Given the description of an element on the screen output the (x, y) to click on. 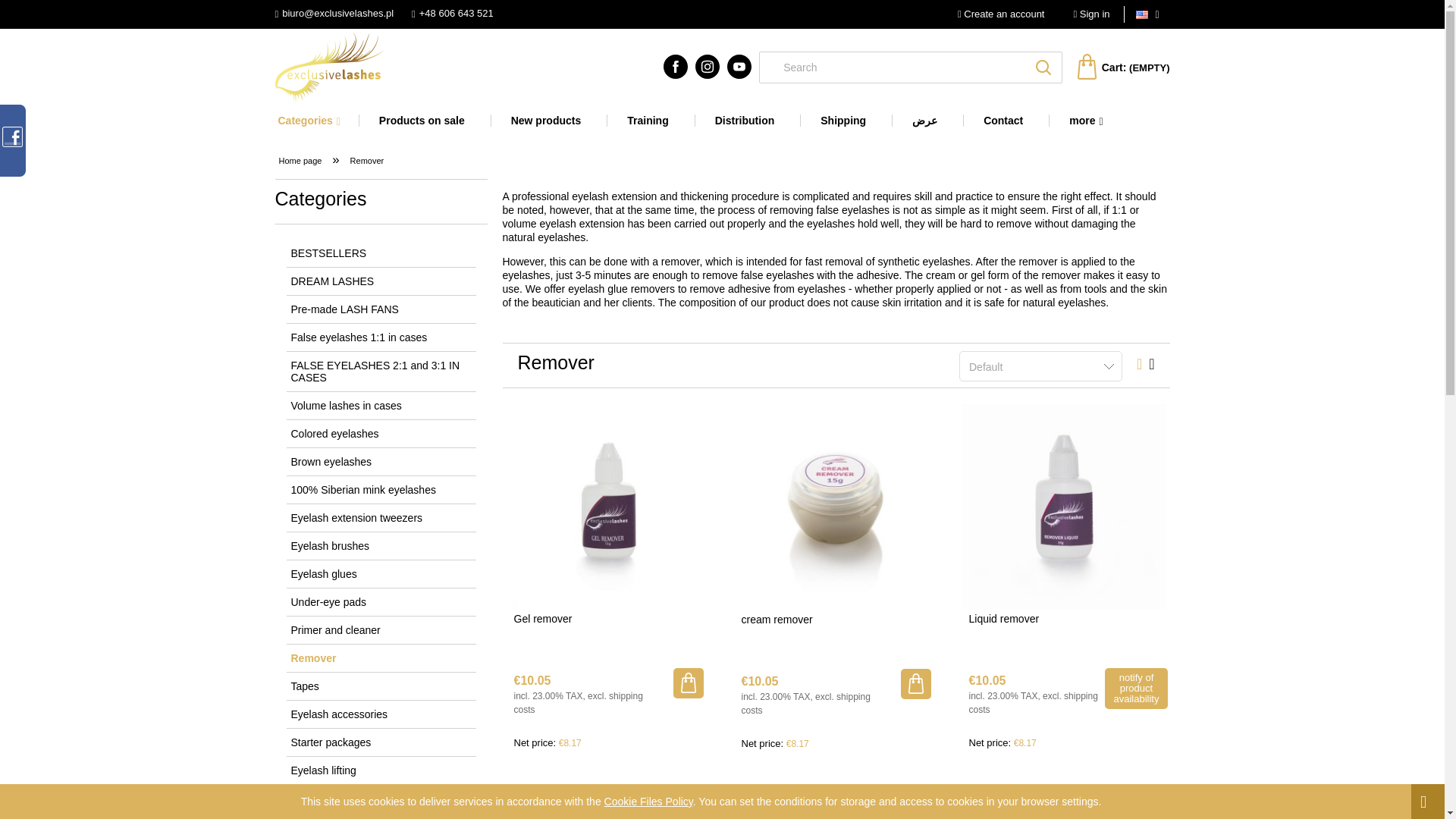
Create an account (1001, 13)
Create an account (1001, 13)
Cookie Files Policy (648, 801)
Categories (315, 120)
Sign in (1091, 13)
Cart (1123, 67)
Home page (328, 67)
Sign in (1091, 13)
Categories (315, 120)
